Given the description of an element on the screen output the (x, y) to click on. 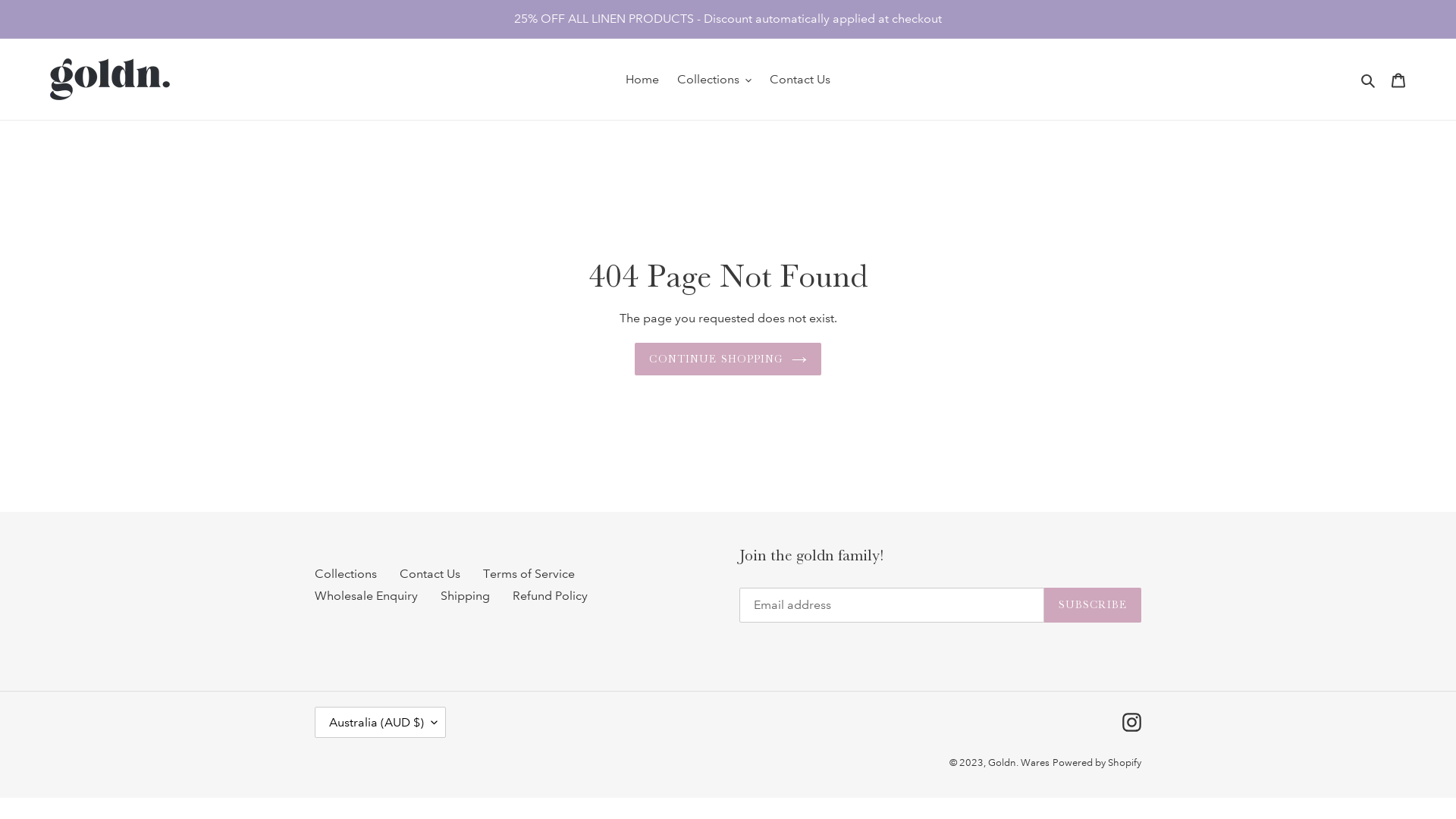
Collections Element type: text (714, 79)
Contact Us Element type: text (429, 573)
Instagram Element type: text (1131, 722)
Cart Element type: text (1398, 78)
Goldn. Wares Element type: text (1018, 762)
Australia (AUD $) Element type: text (379, 721)
SUBSCRIBE Element type: text (1092, 604)
Home Element type: text (642, 79)
Search Element type: text (1368, 79)
Contact Us Element type: text (799, 79)
Collections Element type: text (345, 573)
Refund Policy Element type: text (549, 595)
Wholesale Enquiry Element type: text (365, 595)
Terms of Service Element type: text (528, 573)
CONTINUE SHOPPING Element type: text (727, 358)
Powered by Shopify Element type: text (1096, 762)
Shipping Element type: text (464, 595)
